Given the description of an element on the screen output the (x, y) to click on. 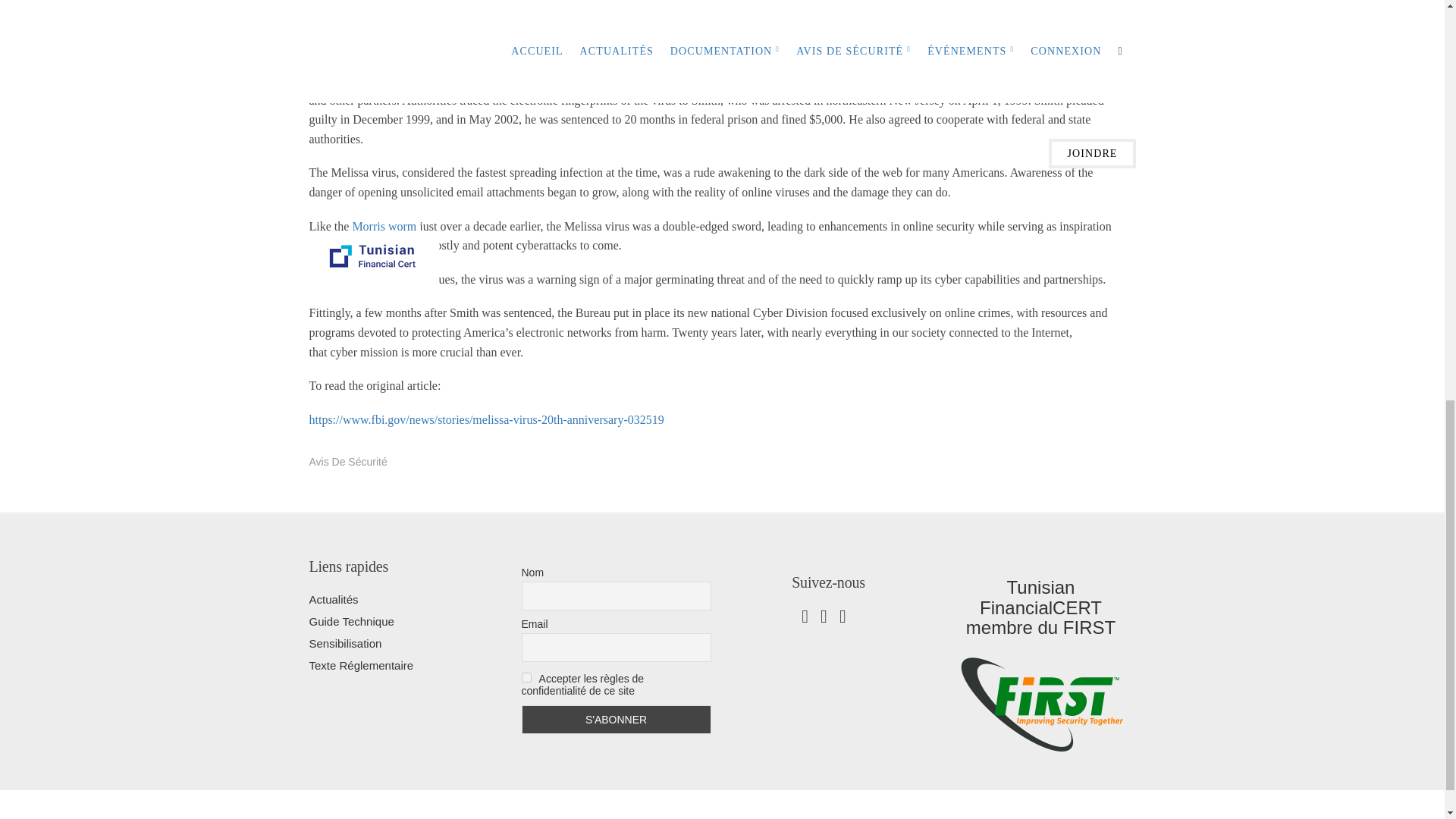
Tunisian FinancialCERT membre du FIRST (1040, 703)
on (526, 677)
S'ABONNER (616, 719)
